Given the description of an element on the screen output the (x, y) to click on. 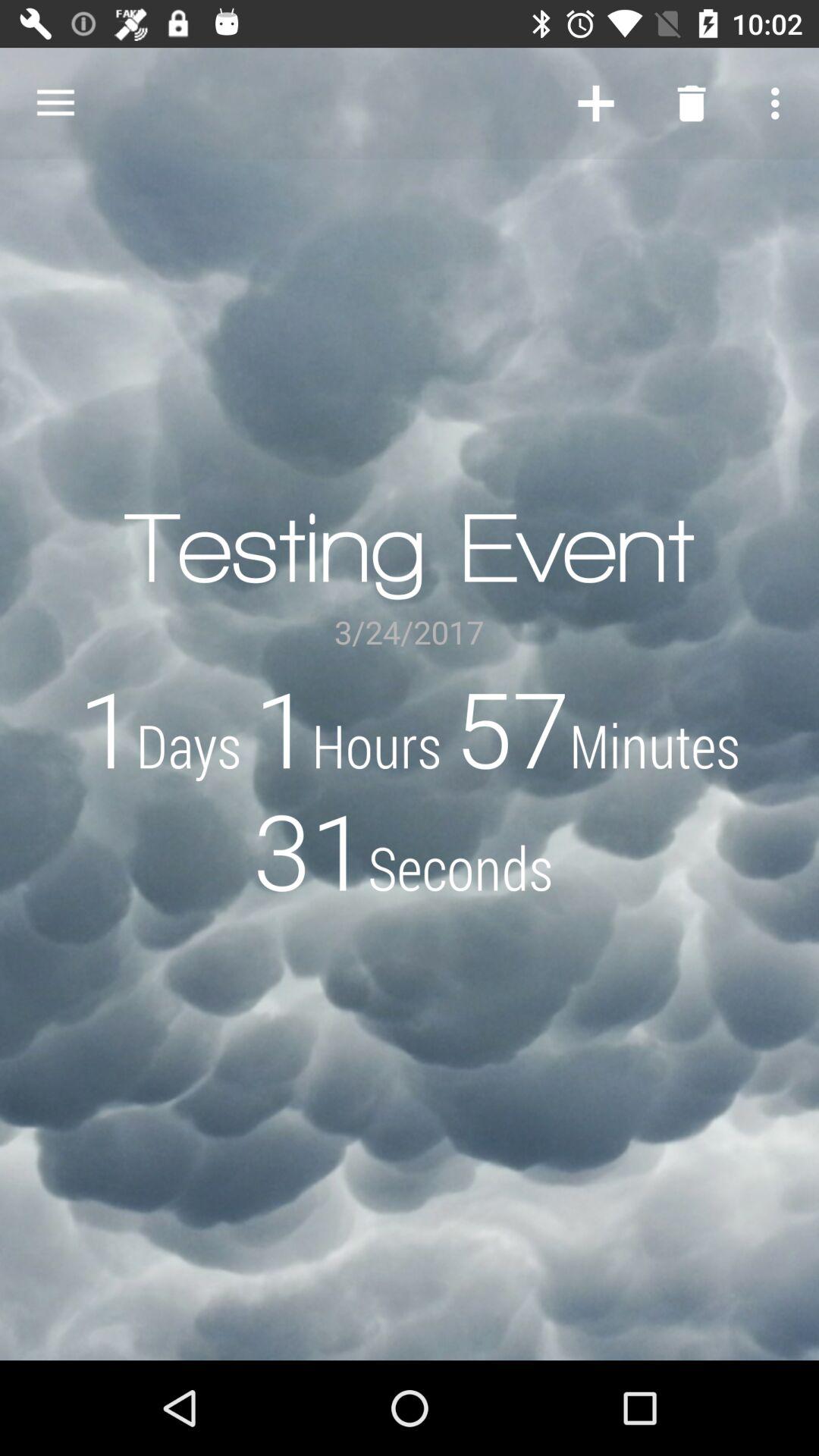
launch the item at the top left corner (55, 103)
